Given the description of an element on the screen output the (x, y) to click on. 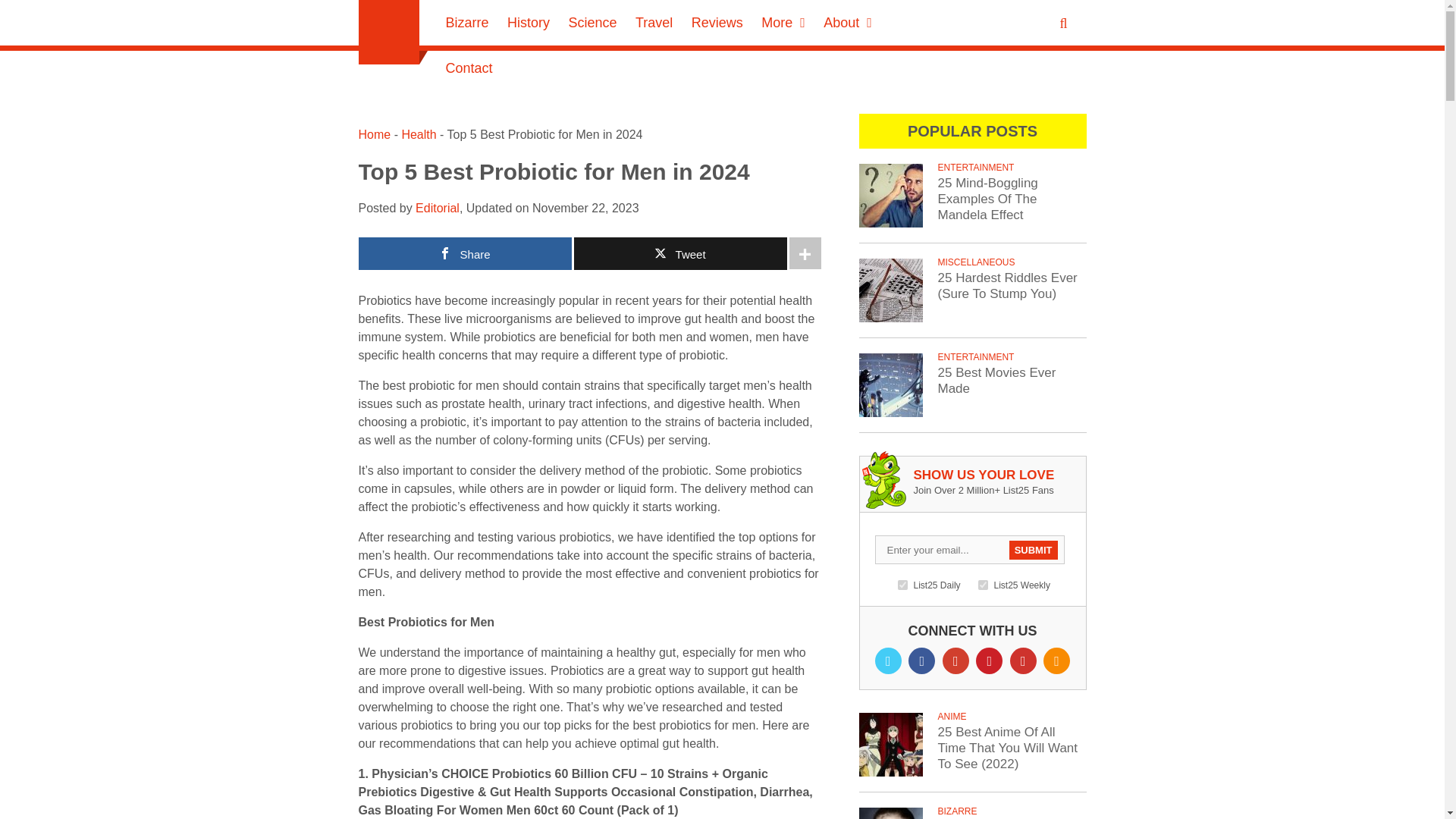
Share (464, 253)
2 (983, 584)
Bizarre (467, 22)
ENTERTAINMENT (975, 167)
Home (374, 133)
Posts by Editorial (437, 207)
MISCELLANEOUS (975, 262)
About (848, 22)
25 best movies ever made 8 (890, 384)
Health (418, 133)
